Given the description of an element on the screen output the (x, y) to click on. 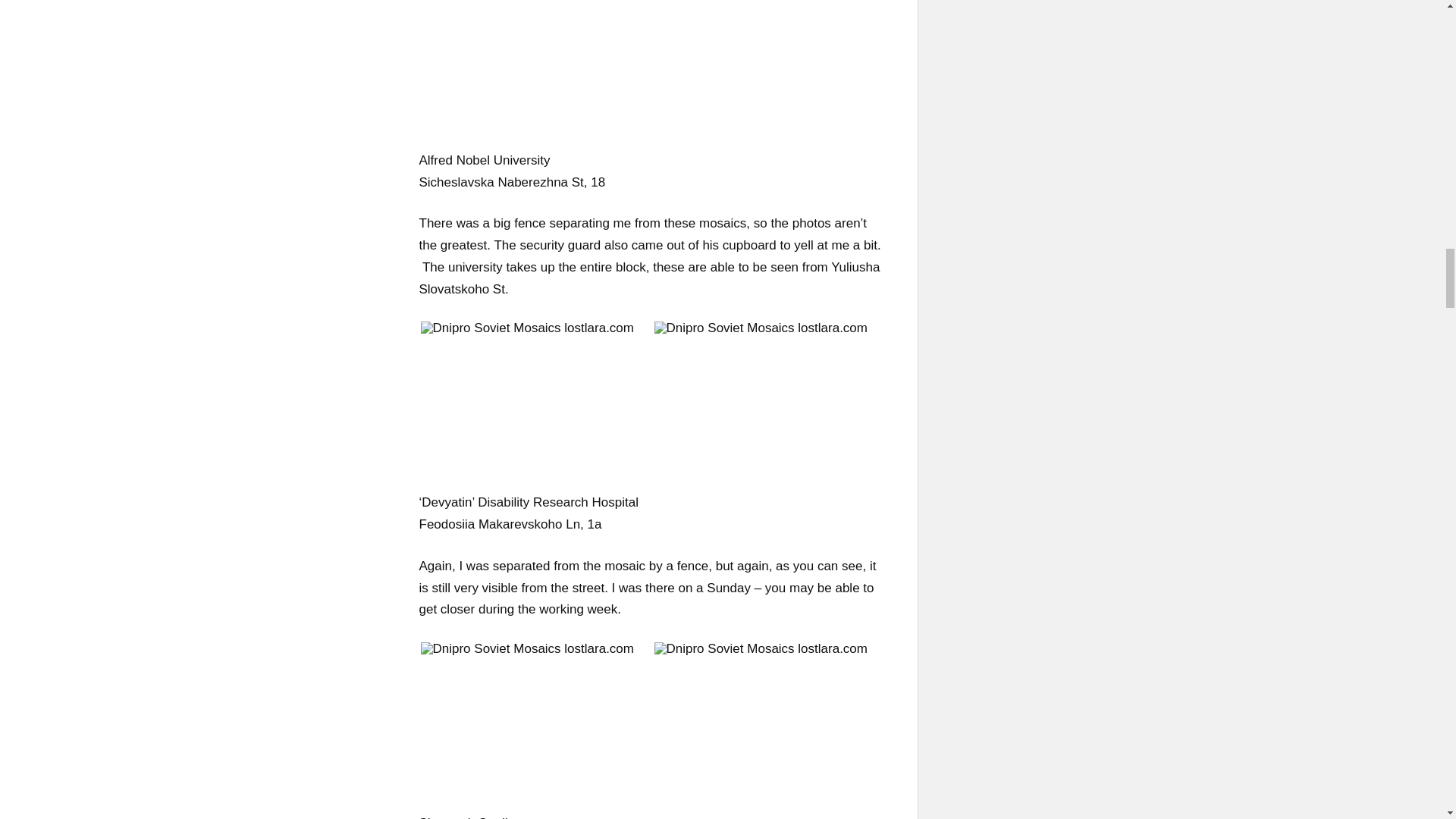
Dnipro Soviet Mosaics lostlara.com (526, 648)
Dnipro Soviet Mosaics lostlara.com (759, 648)
Dnipro Soviet Mosaics lostlara.com (759, 327)
Dnipro Soviet Mosaics lostlara.com (526, 327)
